Given the description of an element on the screen output the (x, y) to click on. 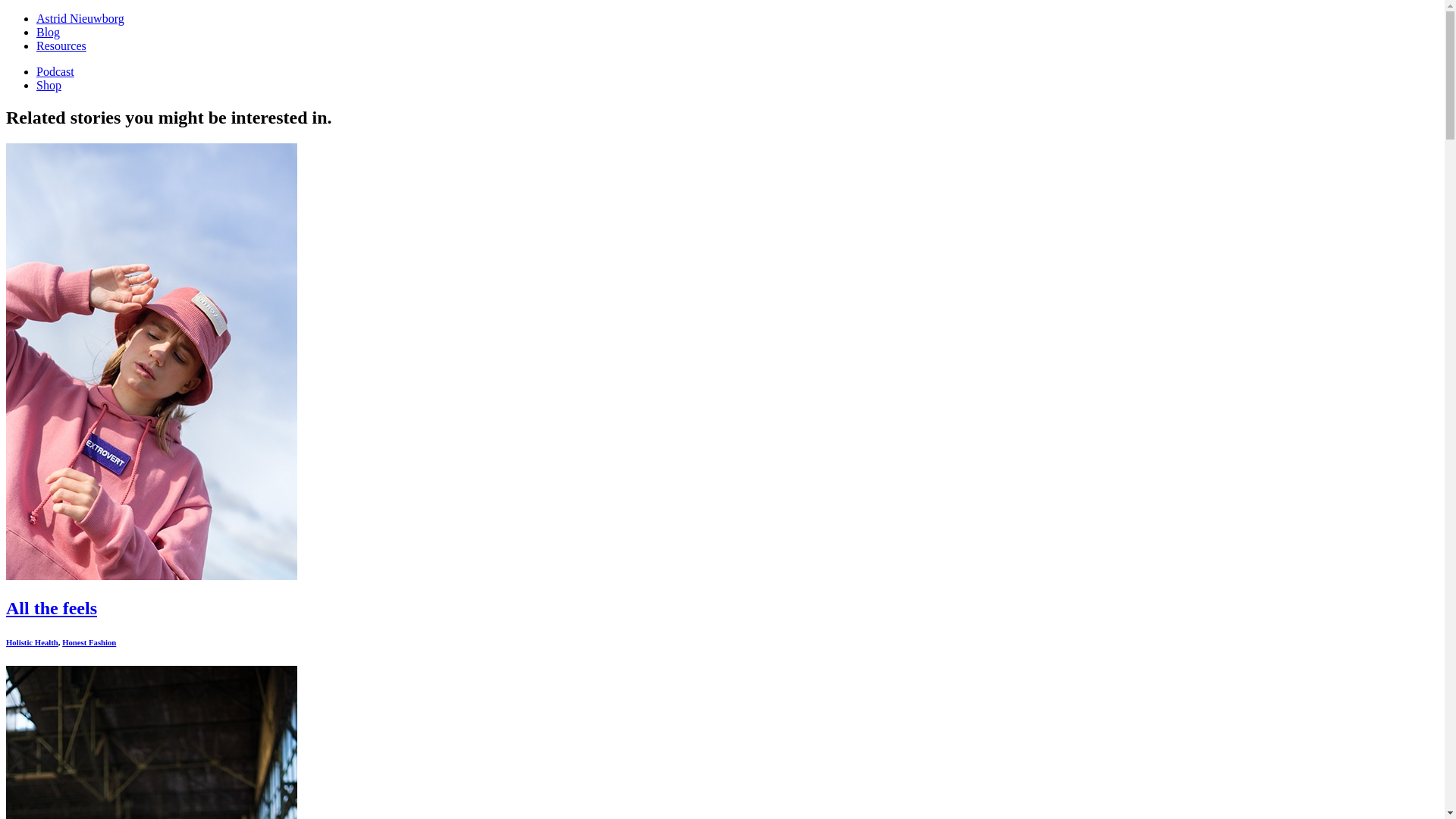
Shop Element type: text (48, 84)
Honest Fashion Element type: text (89, 641)
All the feels Element type: hover (151, 575)
Holistic Health Element type: text (32, 641)
Astrid Nieuwborg Element type: text (80, 18)
Blog Element type: text (47, 31)
Resources Element type: text (61, 45)
Podcast Element type: text (55, 71)
All the feels Element type: text (51, 608)
